Given the description of an element on the screen output the (x, y) to click on. 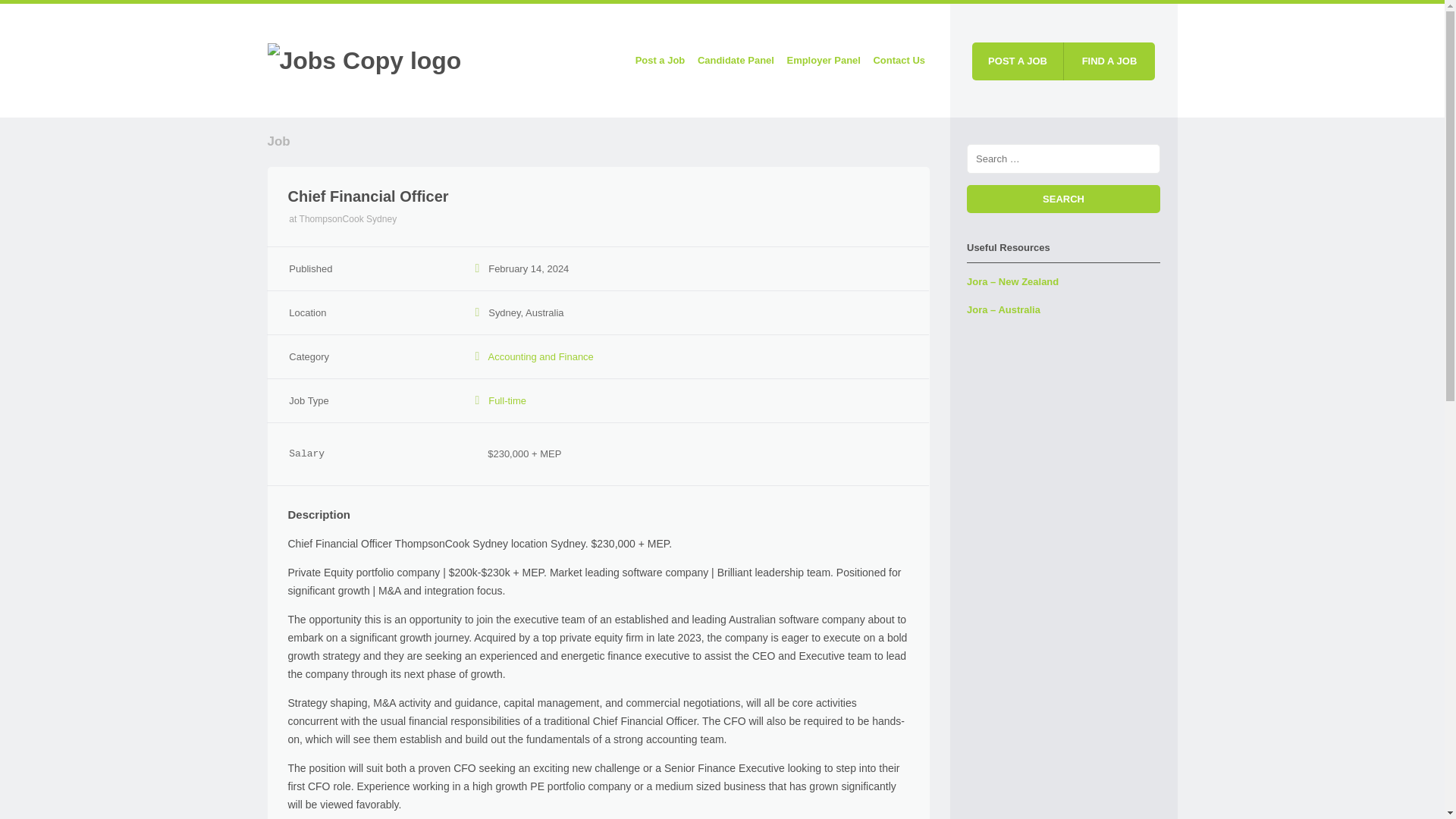
POST A JOB (1017, 61)
Contact Us (898, 60)
Search (1063, 198)
Jobs Copy (363, 58)
Skip to content (560, 60)
Skip to content (560, 60)
Employer Panel (822, 60)
Accounting and Finance (540, 356)
FIND A JOB (1108, 61)
Candidate Panel (735, 60)
Full-time (506, 400)
Post a Job (660, 60)
Search (1063, 198)
